Given the description of an element on the screen output the (x, y) to click on. 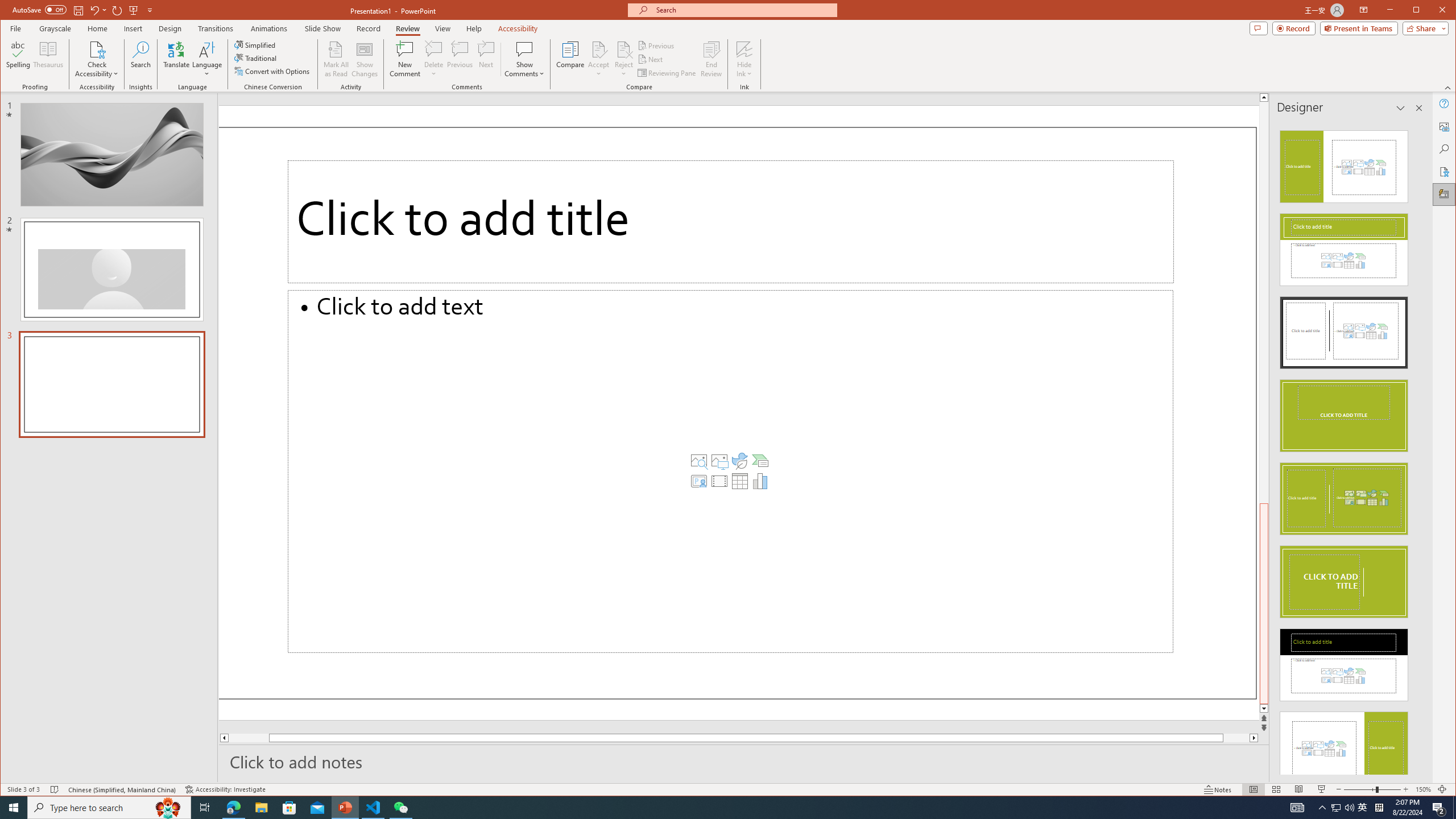
Accept Change (598, 48)
WeChat - 1 running window (400, 807)
End Review (710, 59)
